Given the description of an element on the screen output the (x, y) to click on. 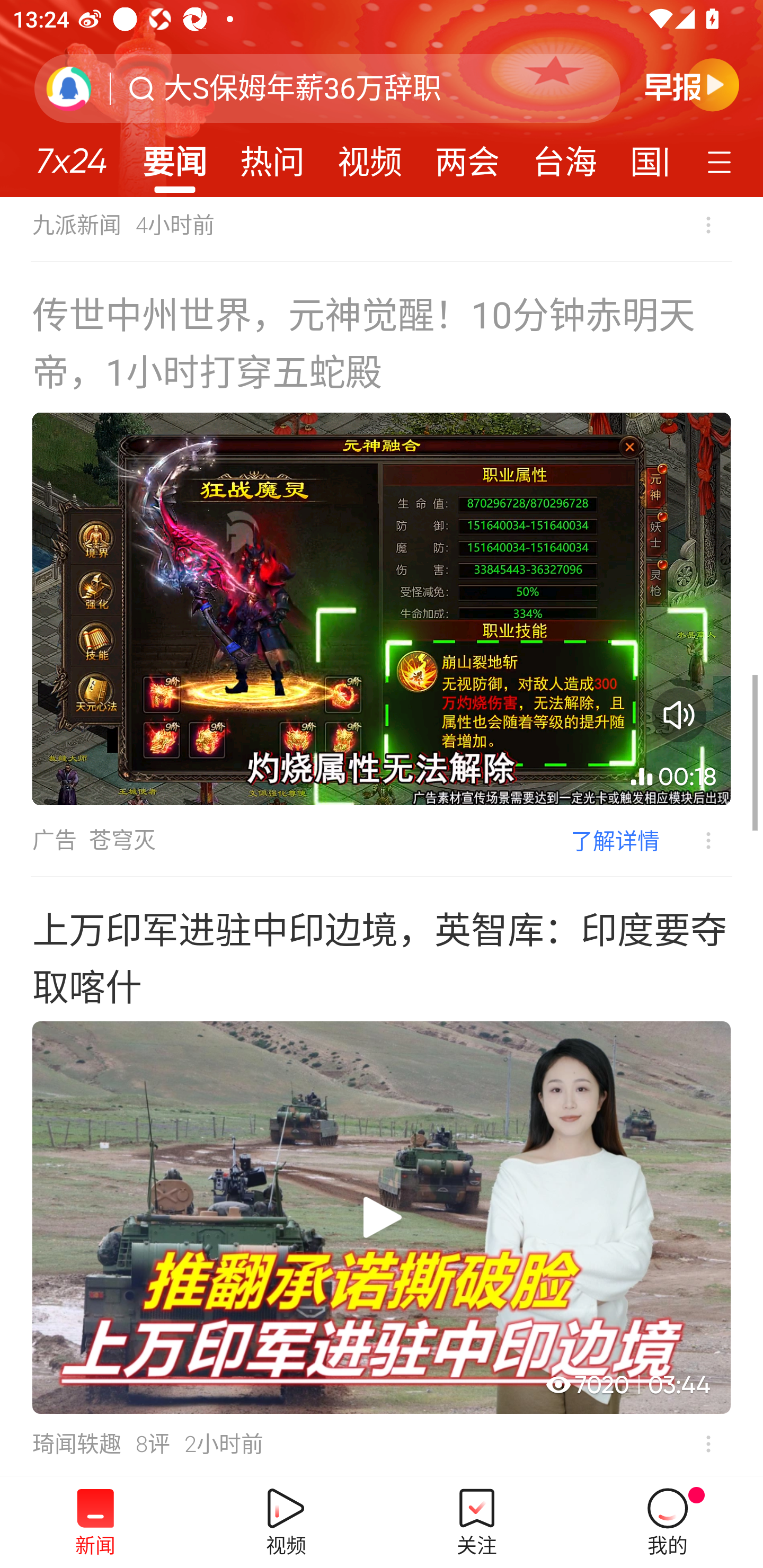
早晚报 (691, 84)
刷新 (68, 88)
大S保姆年薪36万辞职 (302, 88)
7x24 (70, 154)
要闻 (174, 155)
热问 (272, 155)
视频 (369, 155)
两会 (466, 155)
台海 (564, 155)
 定制频道 (721, 160)
九派新闻 4小时前  不感兴趣 (381, 229)
 不感兴趣 (707, 224)
00:18 音量开关 (381, 608)
音量开关 (678, 714)
 不感兴趣 (694, 840)
了解详情 (614, 840)
广告 (54, 839)
苍穹灭 (122, 839)
 不感兴趣 (707, 1444)
